Given the description of an element on the screen output the (x, y) to click on. 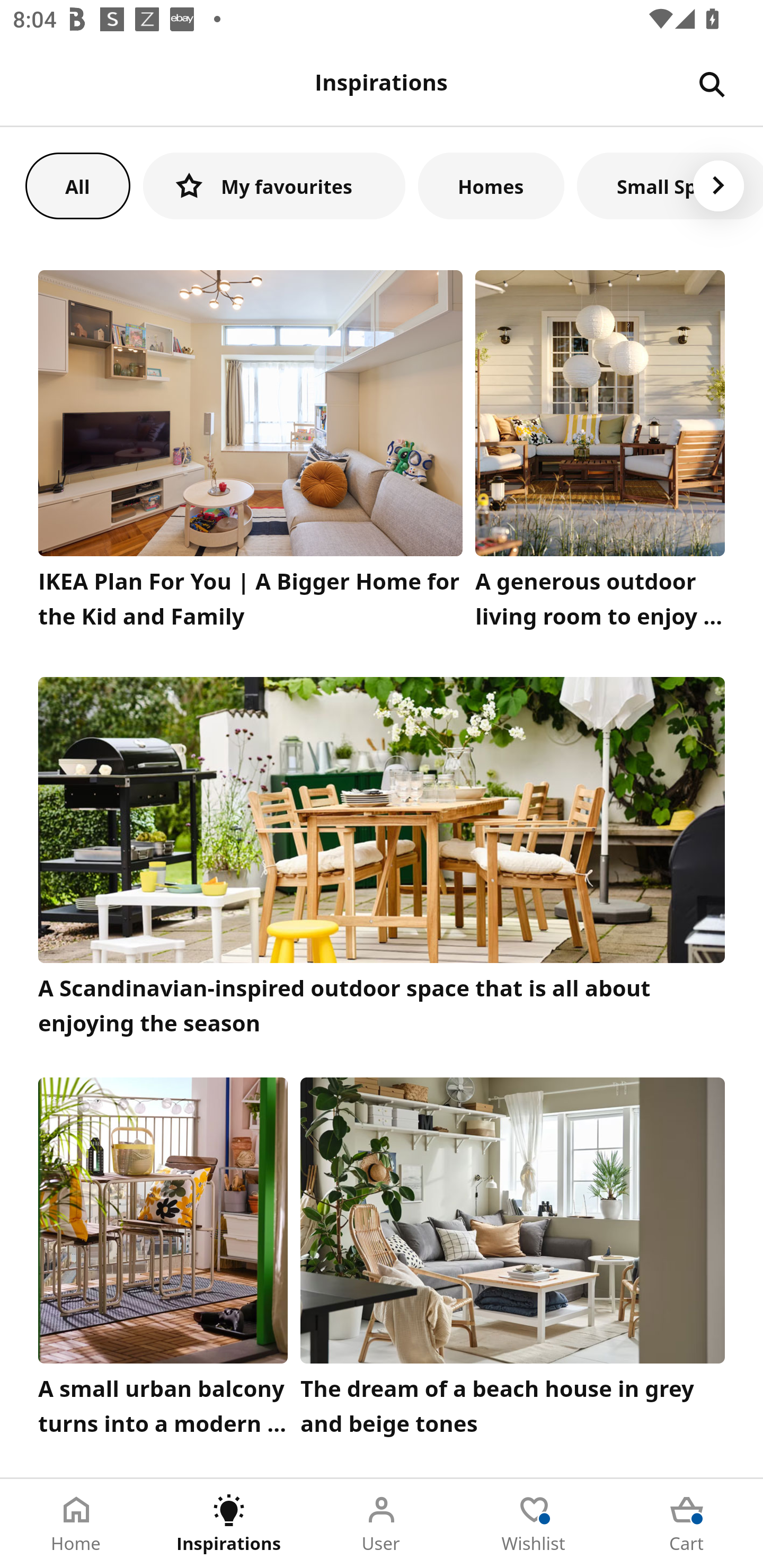
All (77, 185)
My favourites (274, 185)
Homes (491, 185)
The dream of a beach house in grey and beige tones (512, 1261)
Home
Tab 1 of 5 (76, 1522)
Inspirations
Tab 2 of 5 (228, 1522)
User
Tab 3 of 5 (381, 1522)
Wishlist
Tab 4 of 5 (533, 1522)
Cart
Tab 5 of 5 (686, 1522)
